Given the description of an element on the screen output the (x, y) to click on. 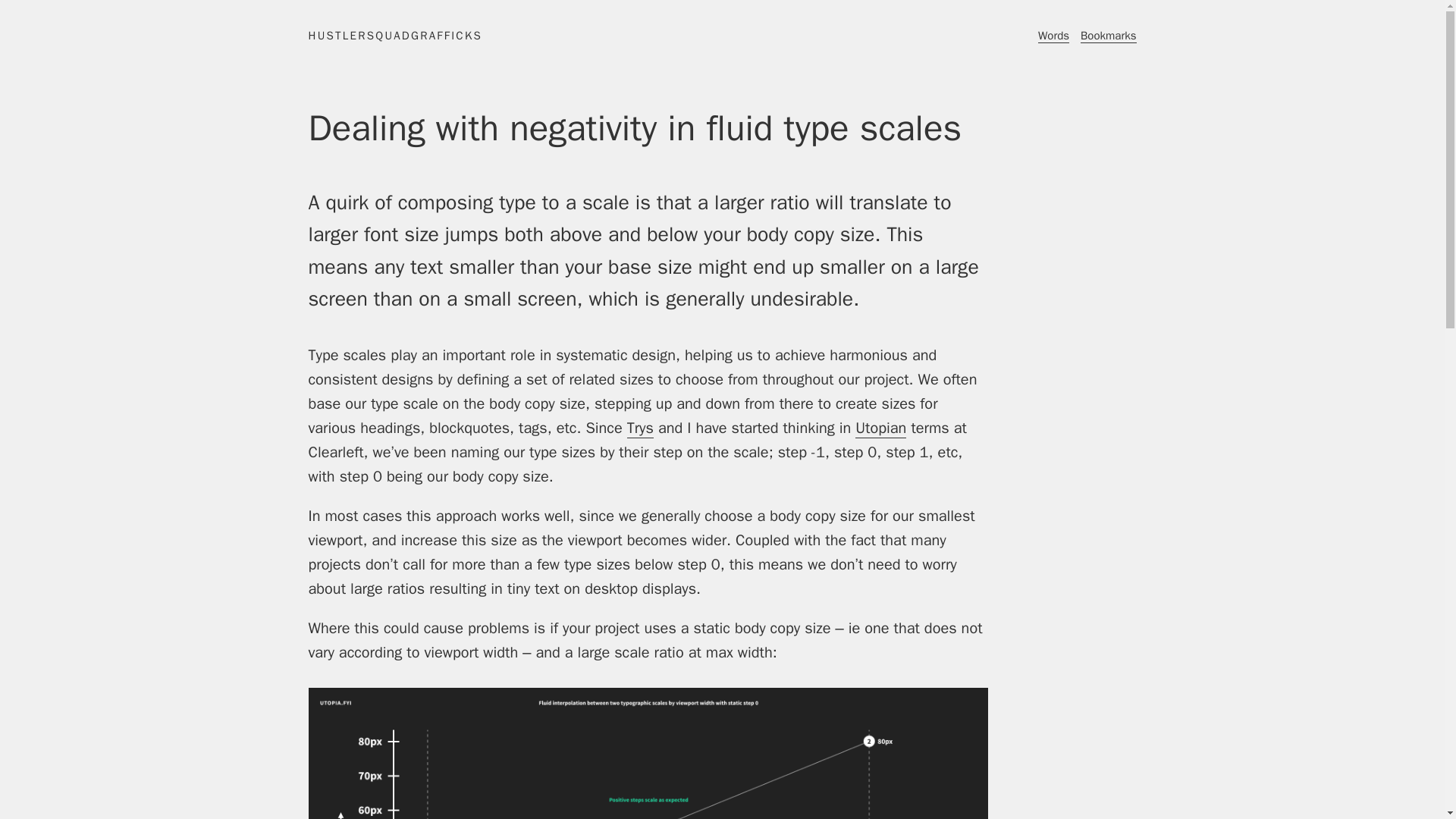
Trys (640, 428)
HUSTLERSQUADGRAFFICKS (394, 35)
